Given the description of an element on the screen output the (x, y) to click on. 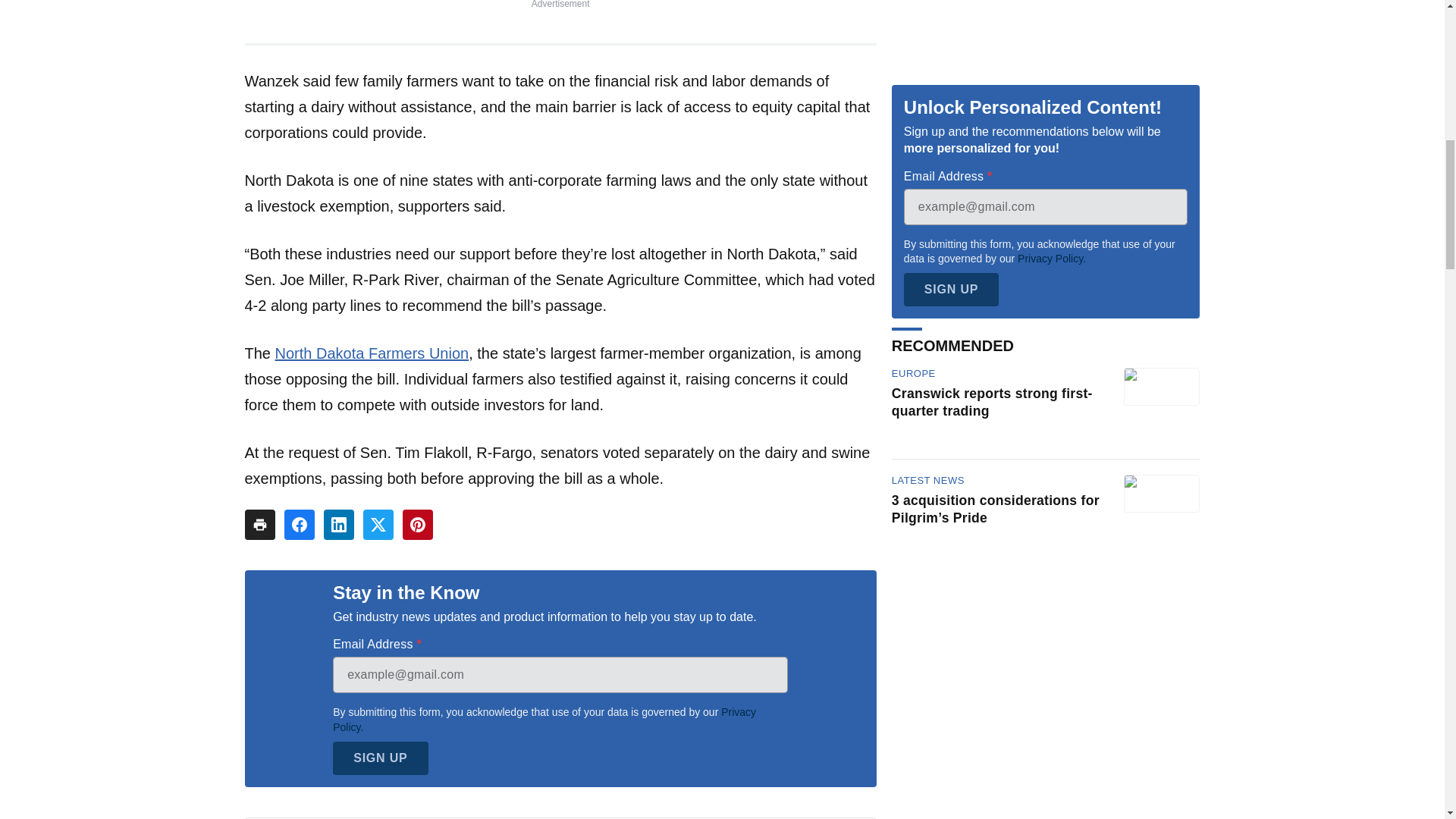
Share To twitter (377, 524)
Share To pinterest (416, 524)
Latest News (927, 173)
North Dakota Farmers Union (371, 352)
Share To facebook (298, 524)
Share To linkedin (338, 524)
Share To print (259, 524)
